Given the description of an element on the screen output the (x, y) to click on. 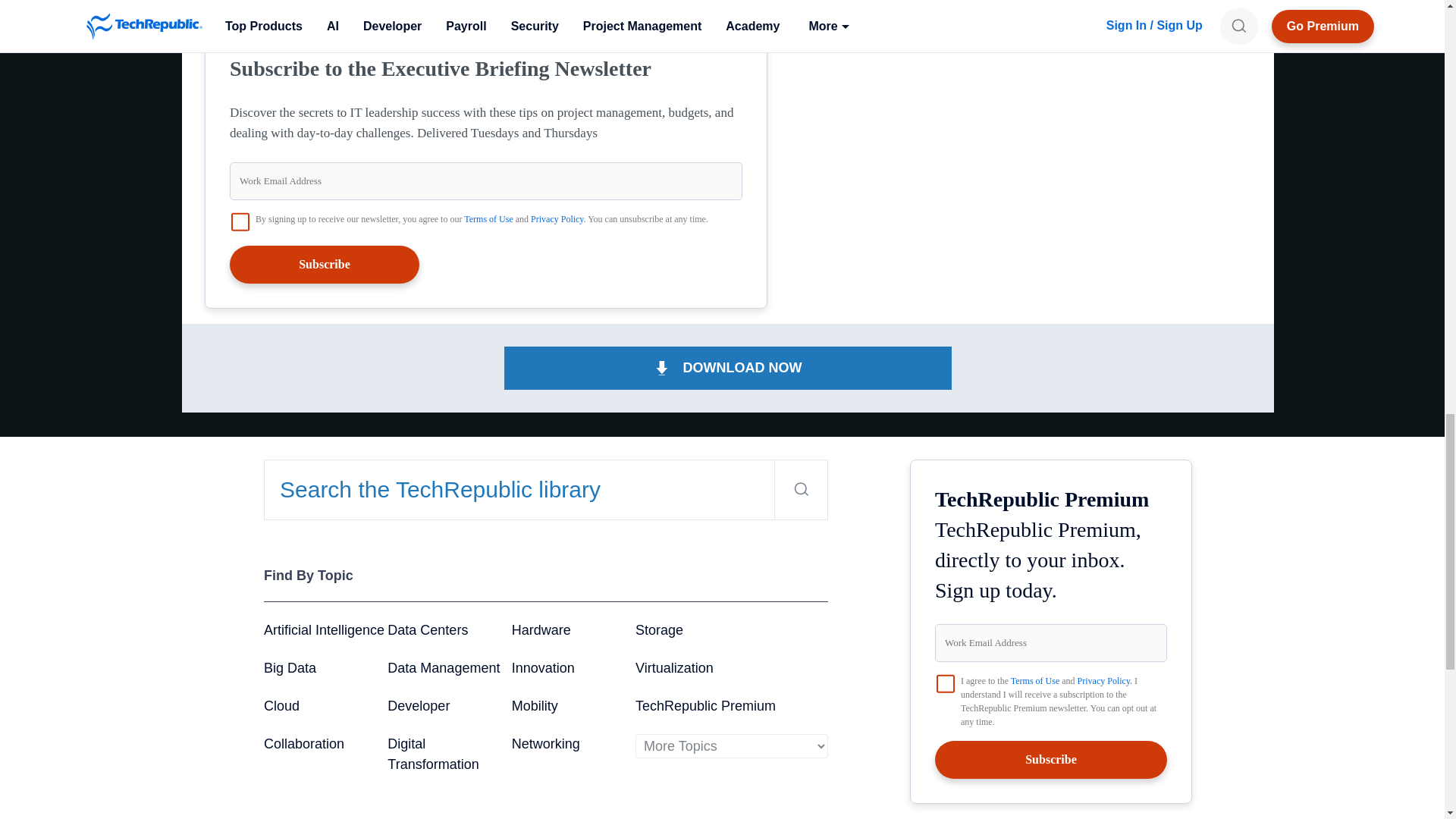
on (945, 683)
DOWNLOAD NOW (727, 367)
Privacy Policy (557, 218)
Terms of Use (488, 218)
on (239, 221)
Subscribe (324, 264)
